Given the description of an element on the screen output the (x, y) to click on. 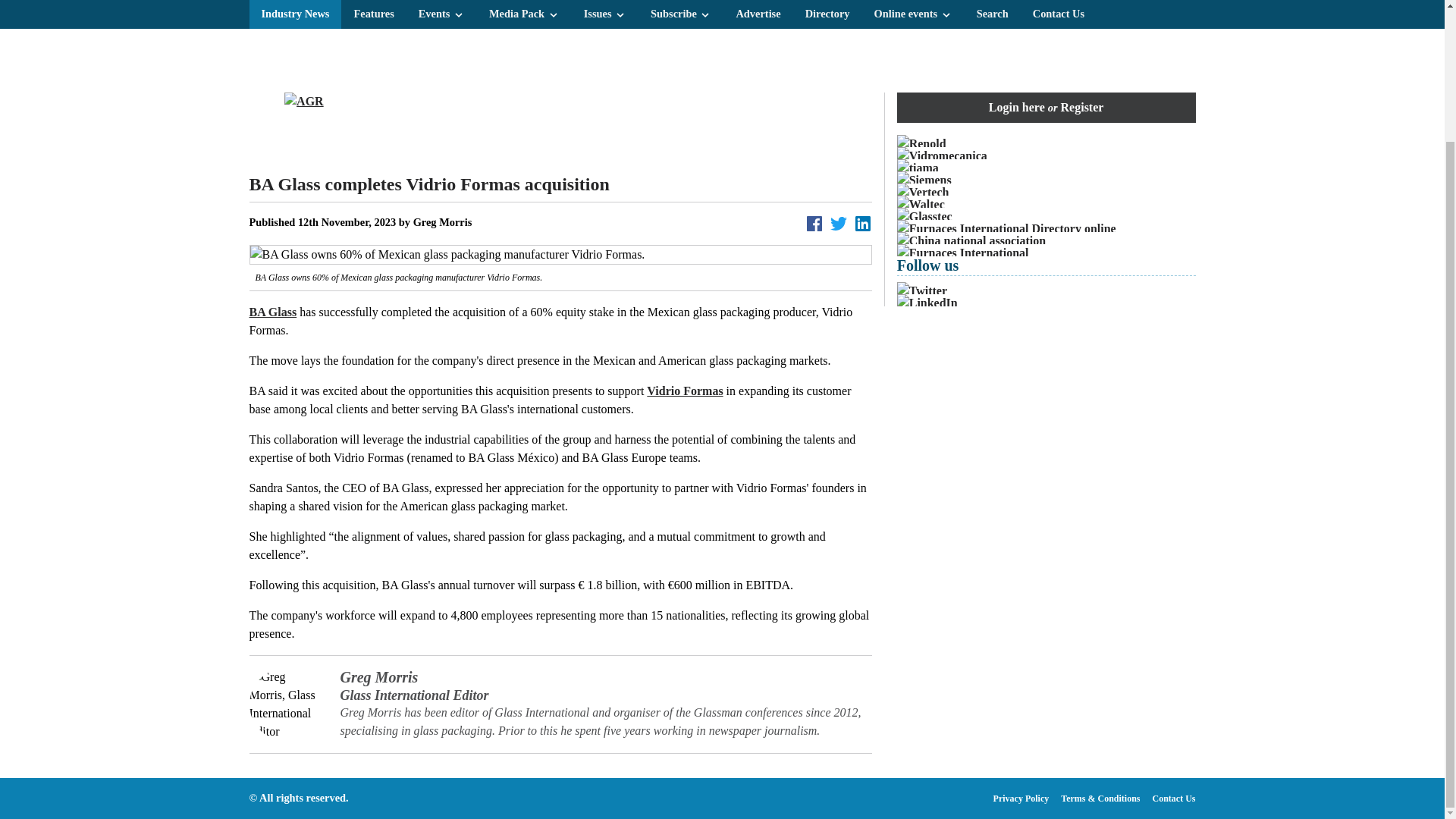
Vertech (1045, 192)
Vidromecanica (1045, 156)
Share on Twitter (838, 223)
Renold (1045, 144)
Waltec (1045, 204)
Glasstec (1045, 217)
AGR (559, 126)
Furnaces International Directory online (1045, 229)
tiama (1045, 167)
Share on Facebook (814, 223)
